Given the description of an element on the screen output the (x, y) to click on. 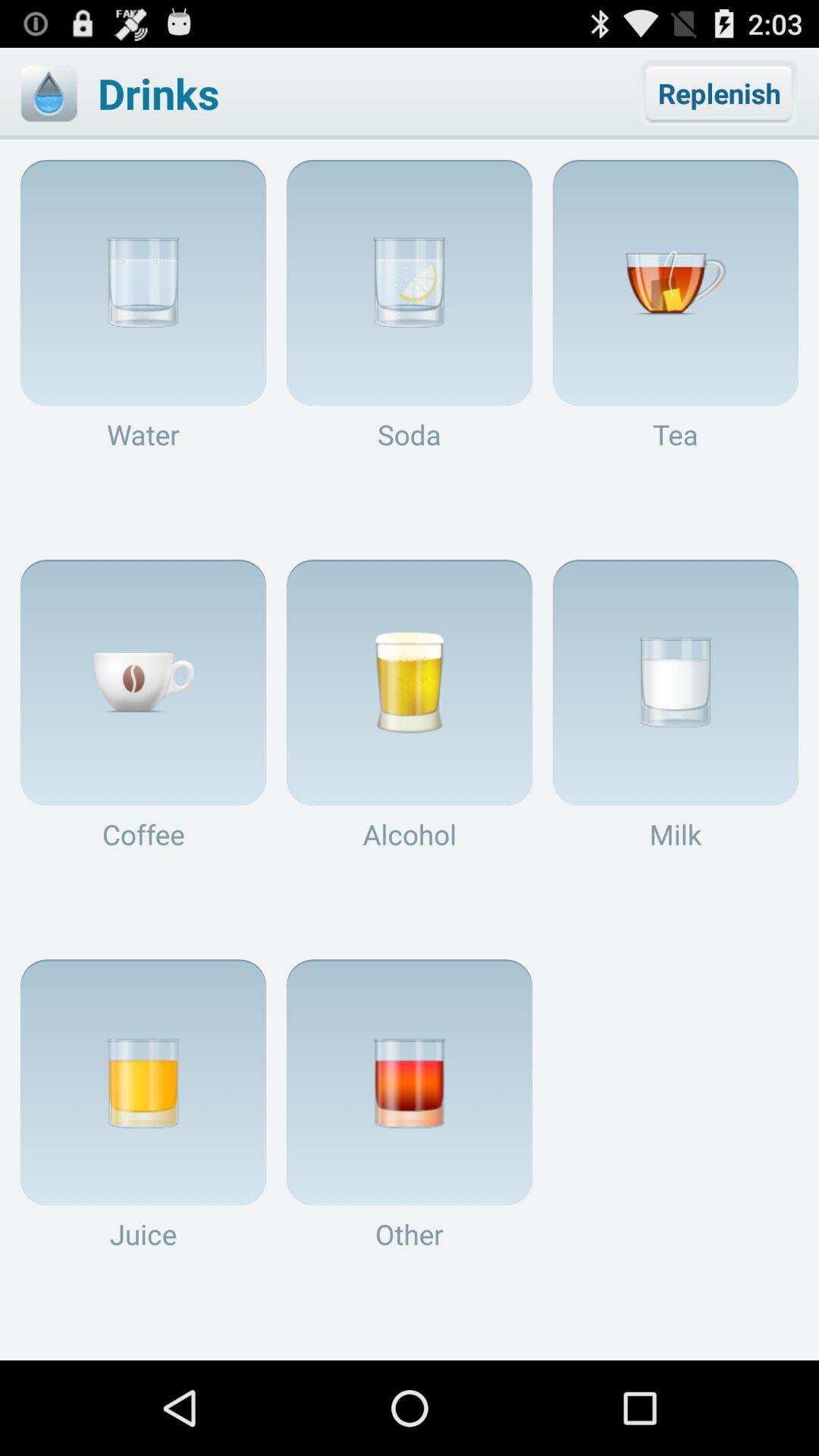
scroll until replenish item (719, 92)
